Given the description of an element on the screen output the (x, y) to click on. 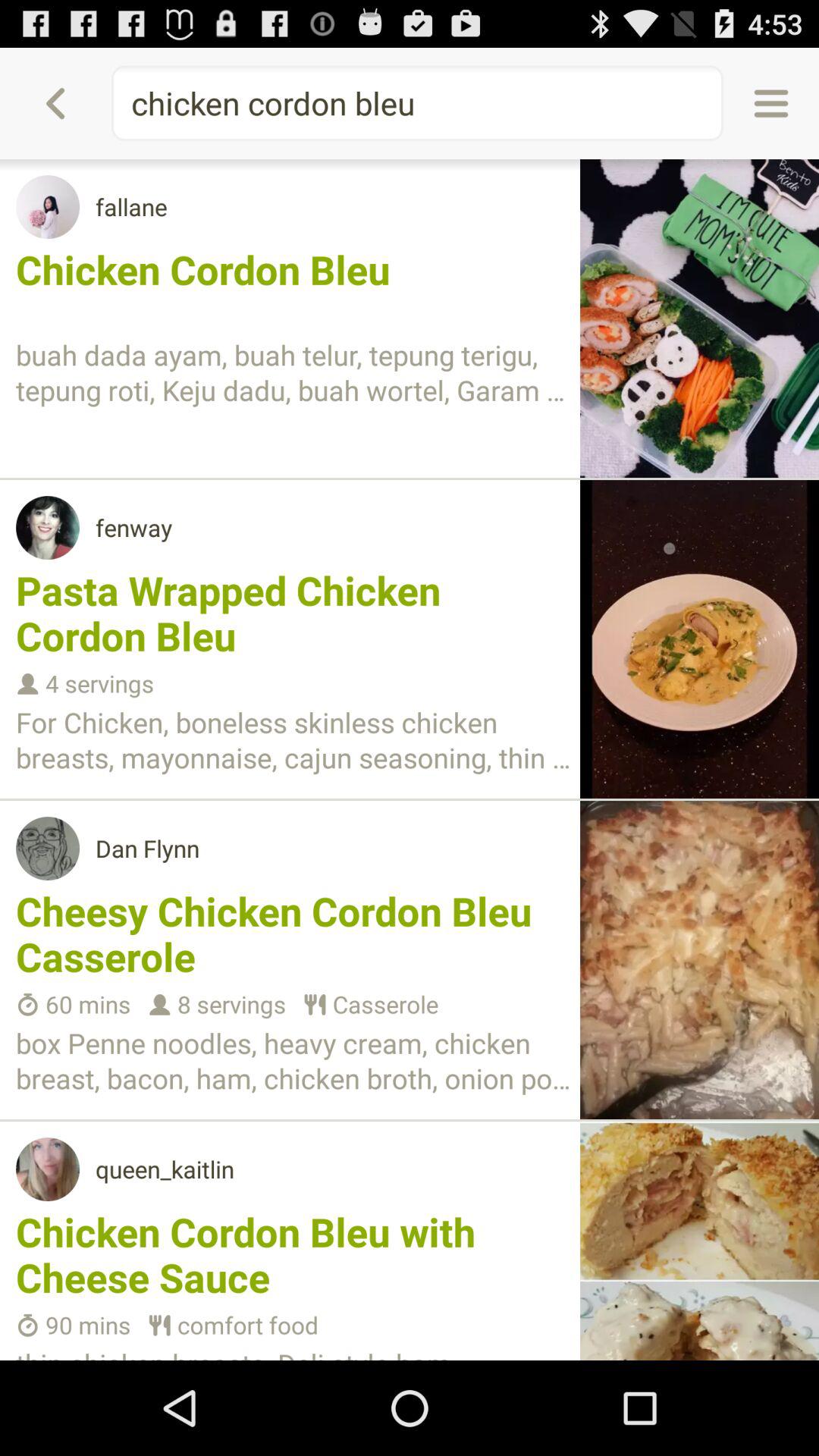
choose icon next to chicken cordon bleu (55, 103)
